Given the description of an element on the screen output the (x, y) to click on. 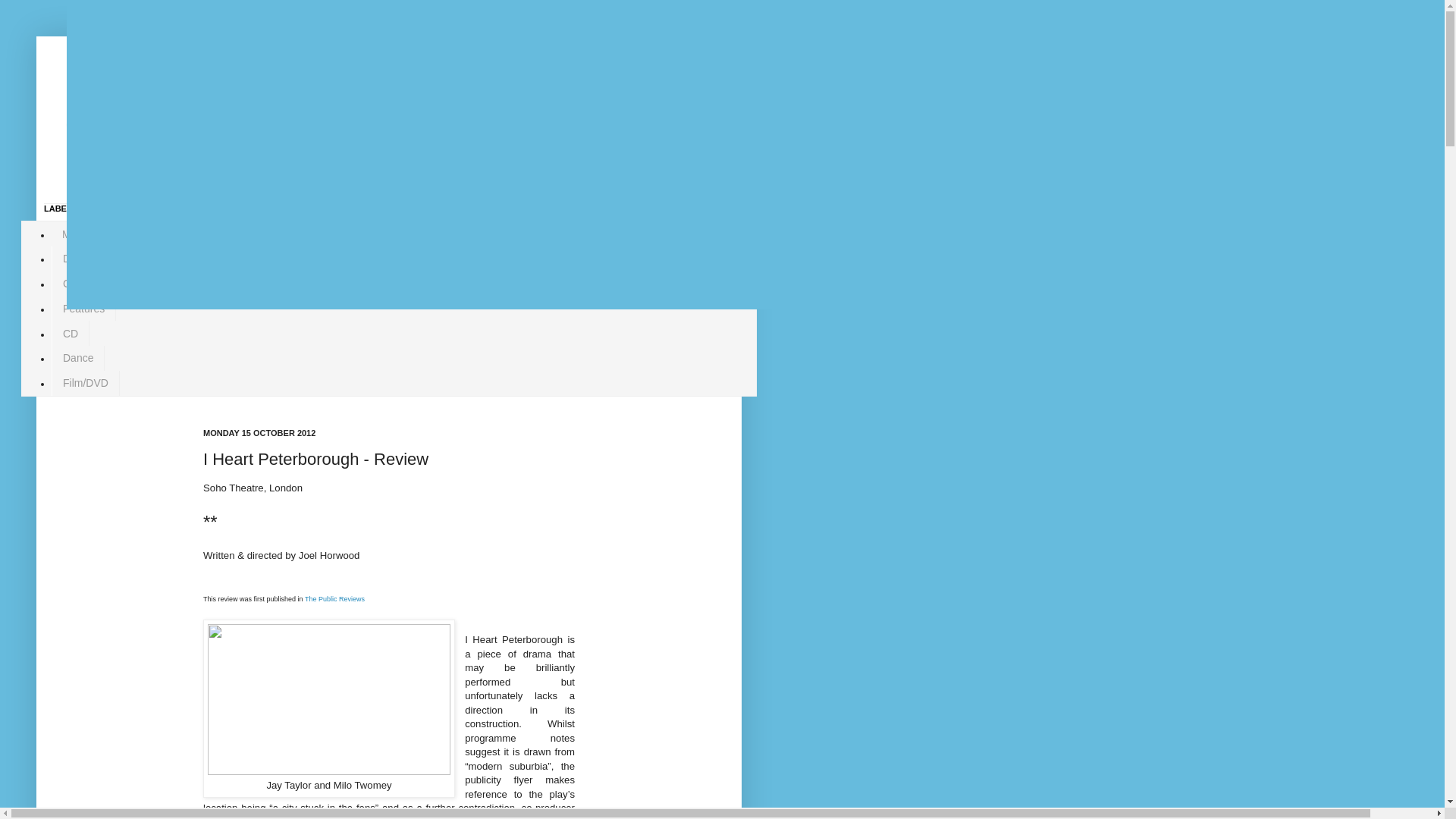
Dance (77, 358)
Drama (78, 258)
Features (83, 308)
Cabaret (81, 283)
Jonathan Baz Reviews... (316, 116)
CD (69, 333)
The Public Reviews (334, 597)
Musical (79, 233)
